Given the description of an element on the screen output the (x, y) to click on. 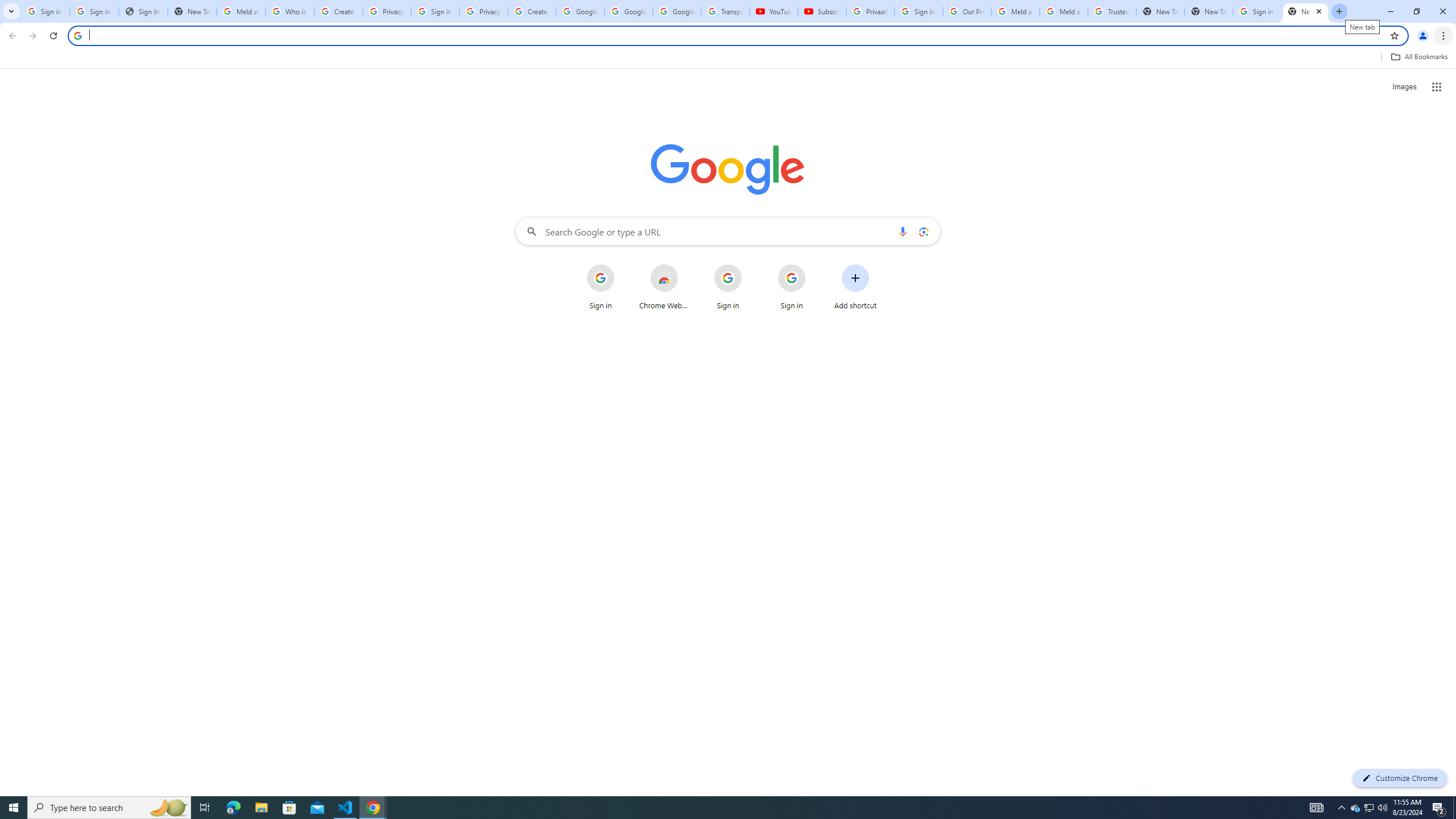
New Tab (1208, 11)
Create your Google Account (338, 11)
Subscriptions - YouTube (822, 11)
New Tab (1305, 11)
Who is my administrator? - Google Account Help (290, 11)
More actions for Chrome Web Store shortcut (686, 265)
Trusted Information and Content - Google Safety Center (1112, 11)
Chrome Web Store (663, 287)
